Given the description of an element on the screen output the (x, y) to click on. 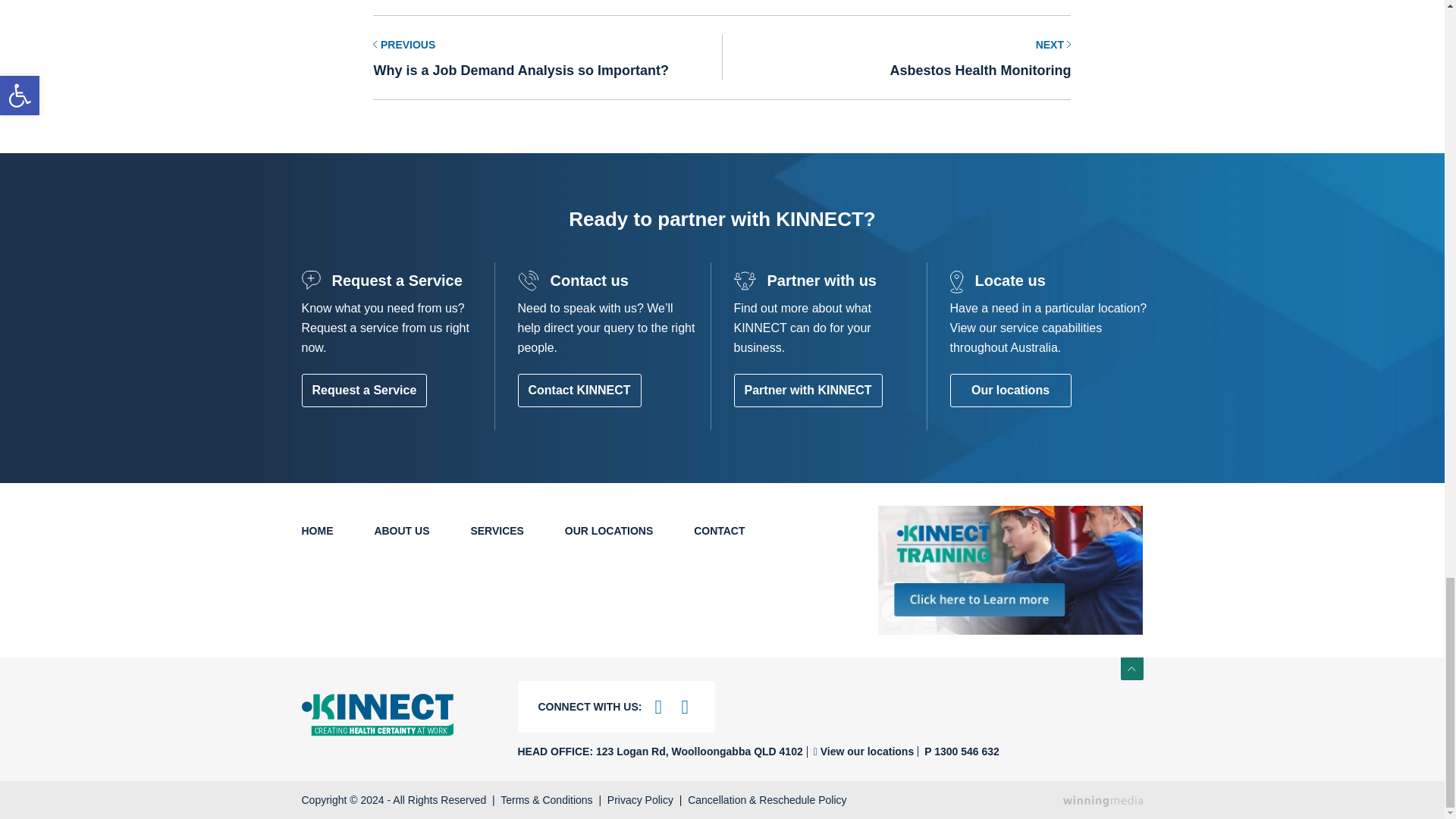
phone (957, 751)
phone (860, 751)
LinkedIn (684, 706)
Asbestos Health Monitoring (896, 57)
YouTube (657, 706)
back to top (1131, 668)
Why is a Job Demand Analysis so Important? (547, 57)
KINNECT (398, 714)
Back to top (1131, 668)
